Given the description of an element on the screen output the (x, y) to click on. 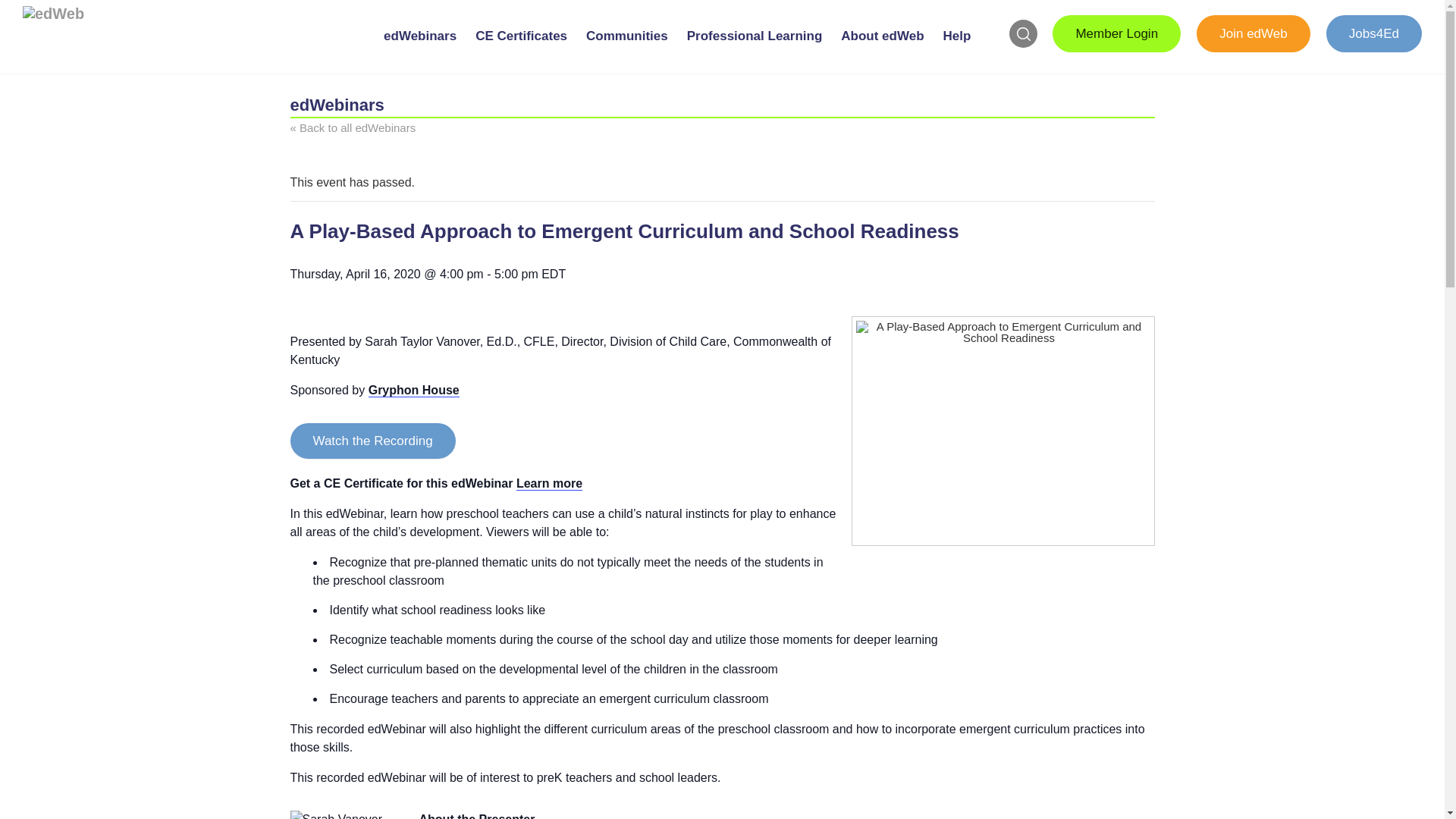
About edWeb (882, 49)
CE Certificates (520, 49)
Communities (626, 49)
Professional Learning (754, 49)
edWebinars (420, 49)
